Given the description of an element on the screen output the (x, y) to click on. 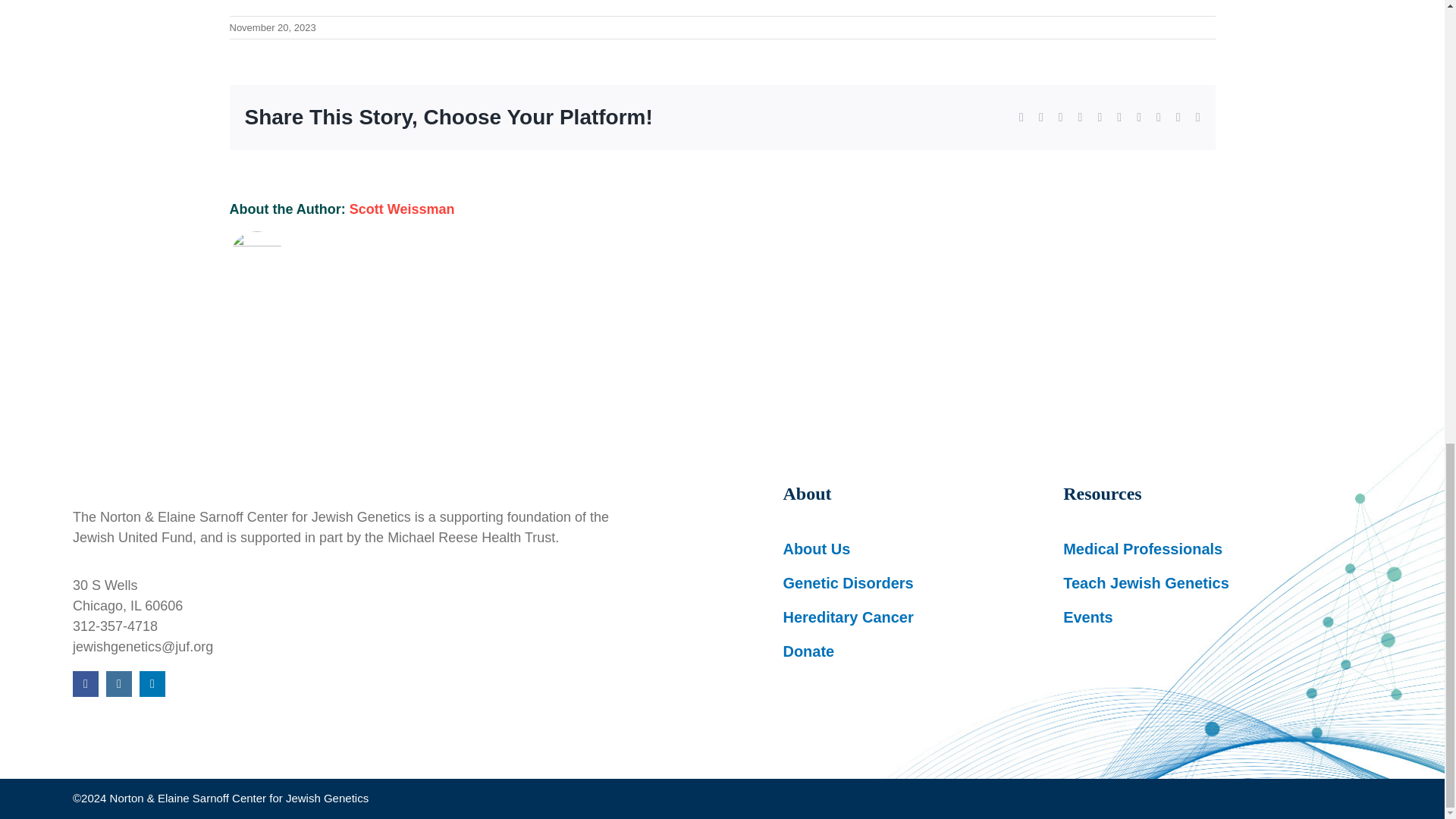
Posts by Scott Weissman (401, 209)
jewishunitedfund-logo (299, 460)
